Given the description of an element on the screen output the (x, y) to click on. 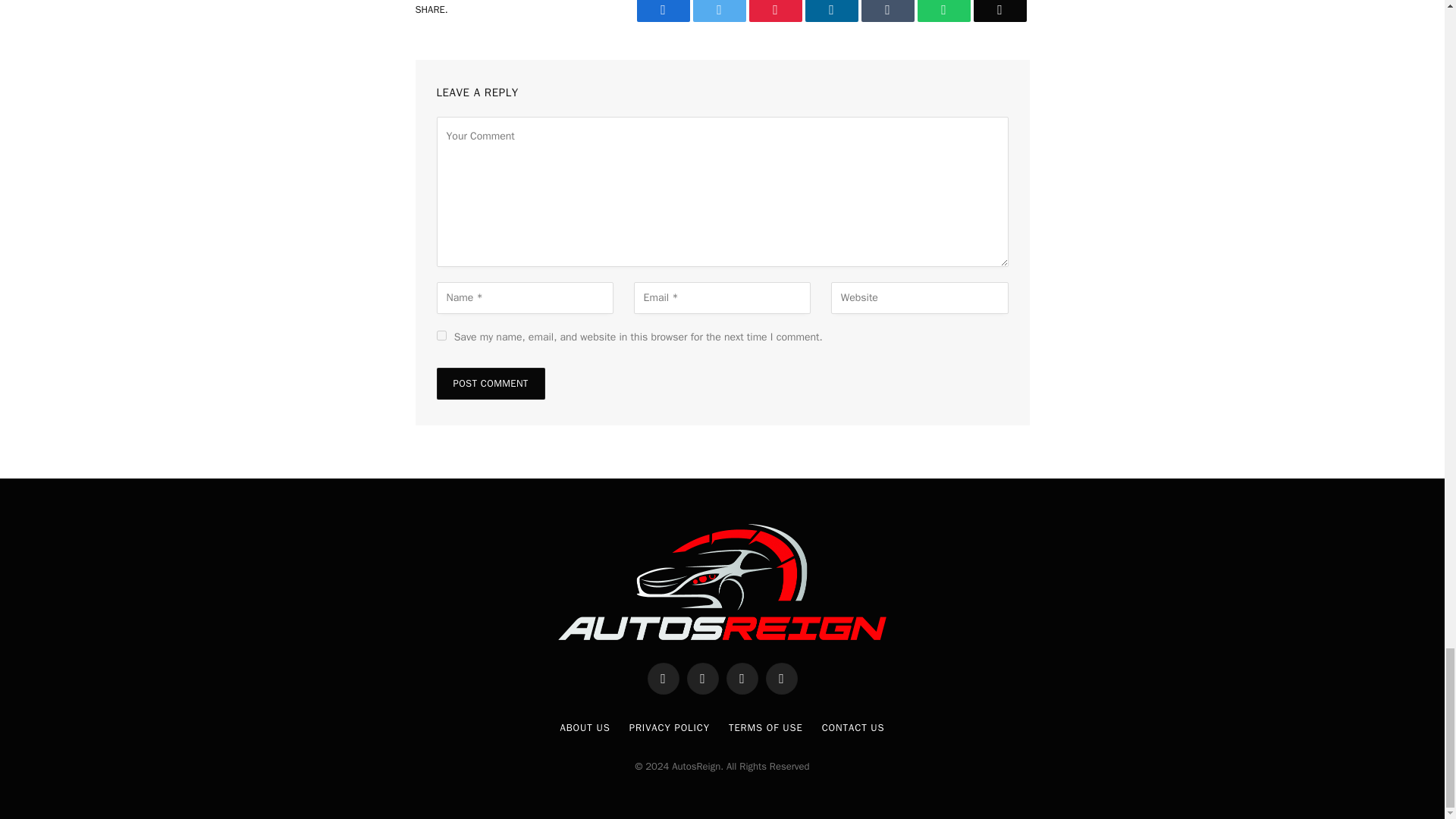
Post Comment (490, 383)
yes (441, 335)
